Given the description of an element on the screen output the (x, y) to click on. 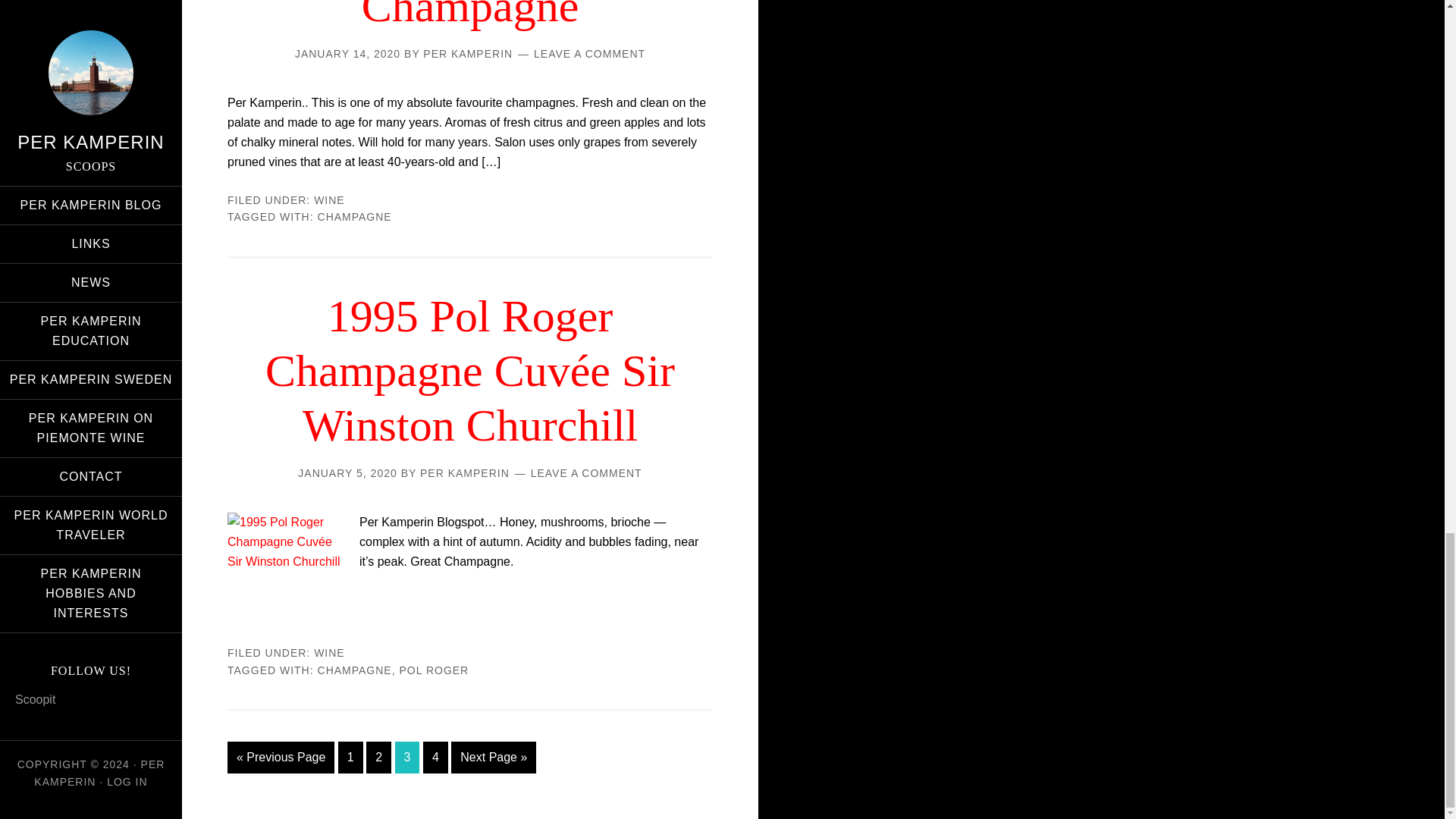
WINE (329, 200)
CHAMPAGNE (354, 216)
PER KAMPERIN (464, 472)
PER KAMPERIN (467, 53)
LEAVE A COMMENT (589, 53)
